Given the description of an element on the screen output the (x, y) to click on. 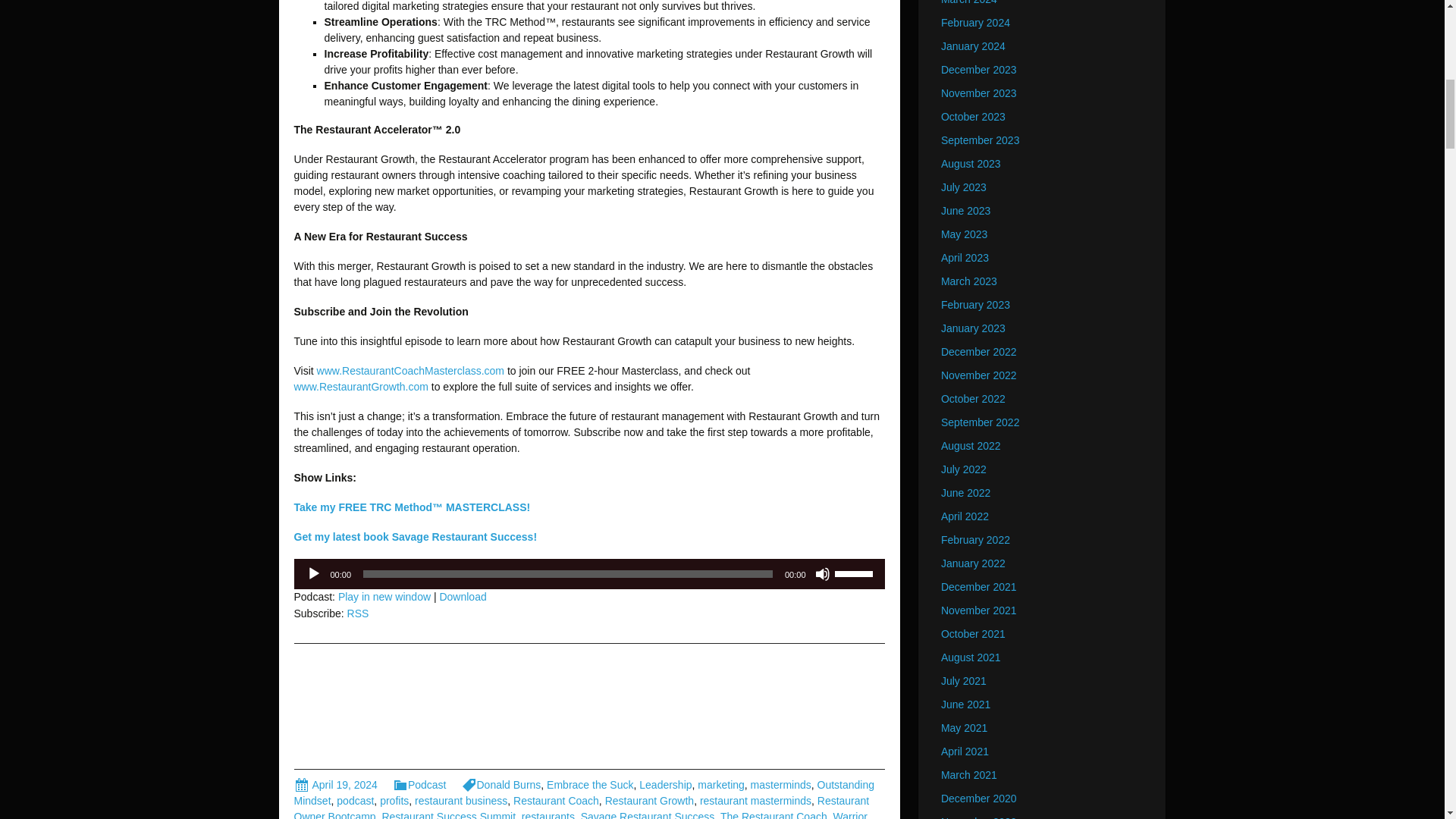
Get my latest book Savage Restaurant Success! (415, 536)
Download (462, 596)
Subscribe via RSS (358, 613)
Play in new window (383, 596)
www.RestaurantGrowth.com (361, 386)
April 19, 2024 (335, 784)
Mute (821, 573)
Download (462, 596)
RSS (358, 613)
www.RestaurantCoachMasterclass.com (410, 370)
Play in new window (383, 596)
Podcast (419, 784)
Play (313, 573)
